Given the description of an element on the screen output the (x, y) to click on. 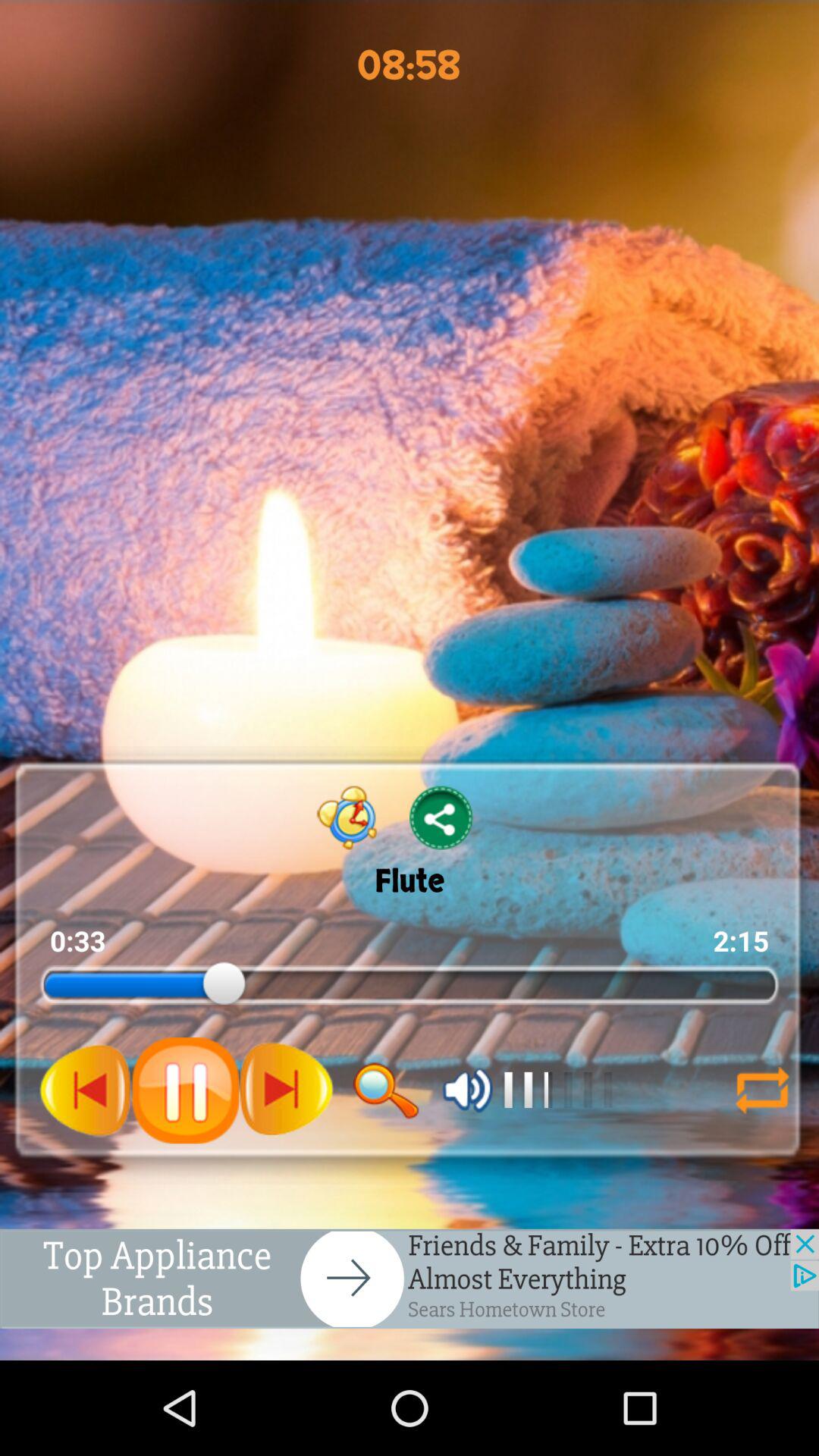
share the information (441, 817)
